Given the description of an element on the screen output the (x, y) to click on. 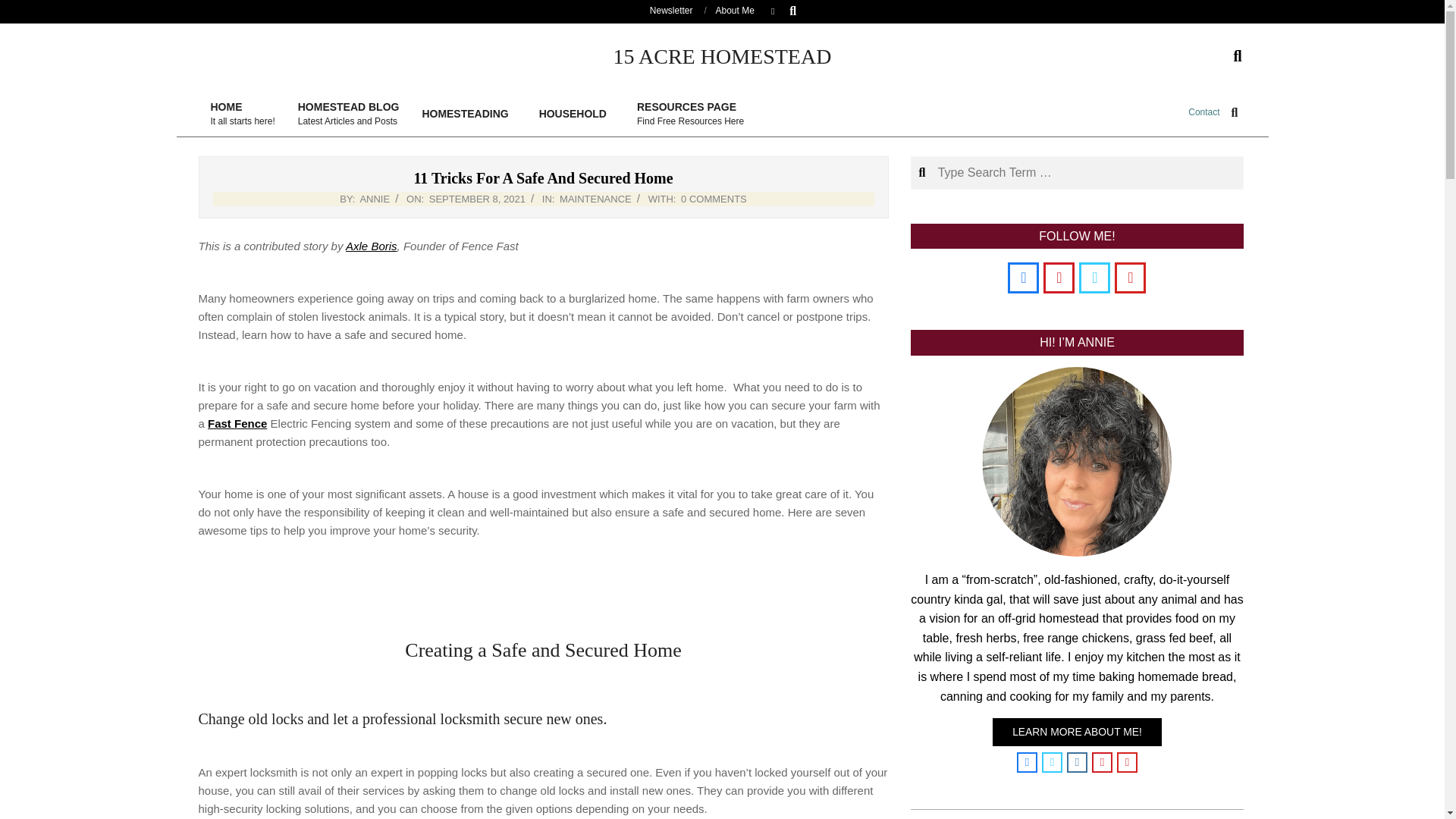
About Me (735, 9)
Newsletter (690, 113)
Search (671, 9)
Fast Fence (24, 9)
0 COMMENTS (237, 422)
HOMESTEADING (713, 198)
Contact (468, 113)
Wednesday, September 8, 2021, 1:55 pm (1204, 112)
Search (477, 198)
Axle Boris (21, 8)
Posts by Annie (371, 245)
ANNIE (374, 198)
